Given the description of an element on the screen output the (x, y) to click on. 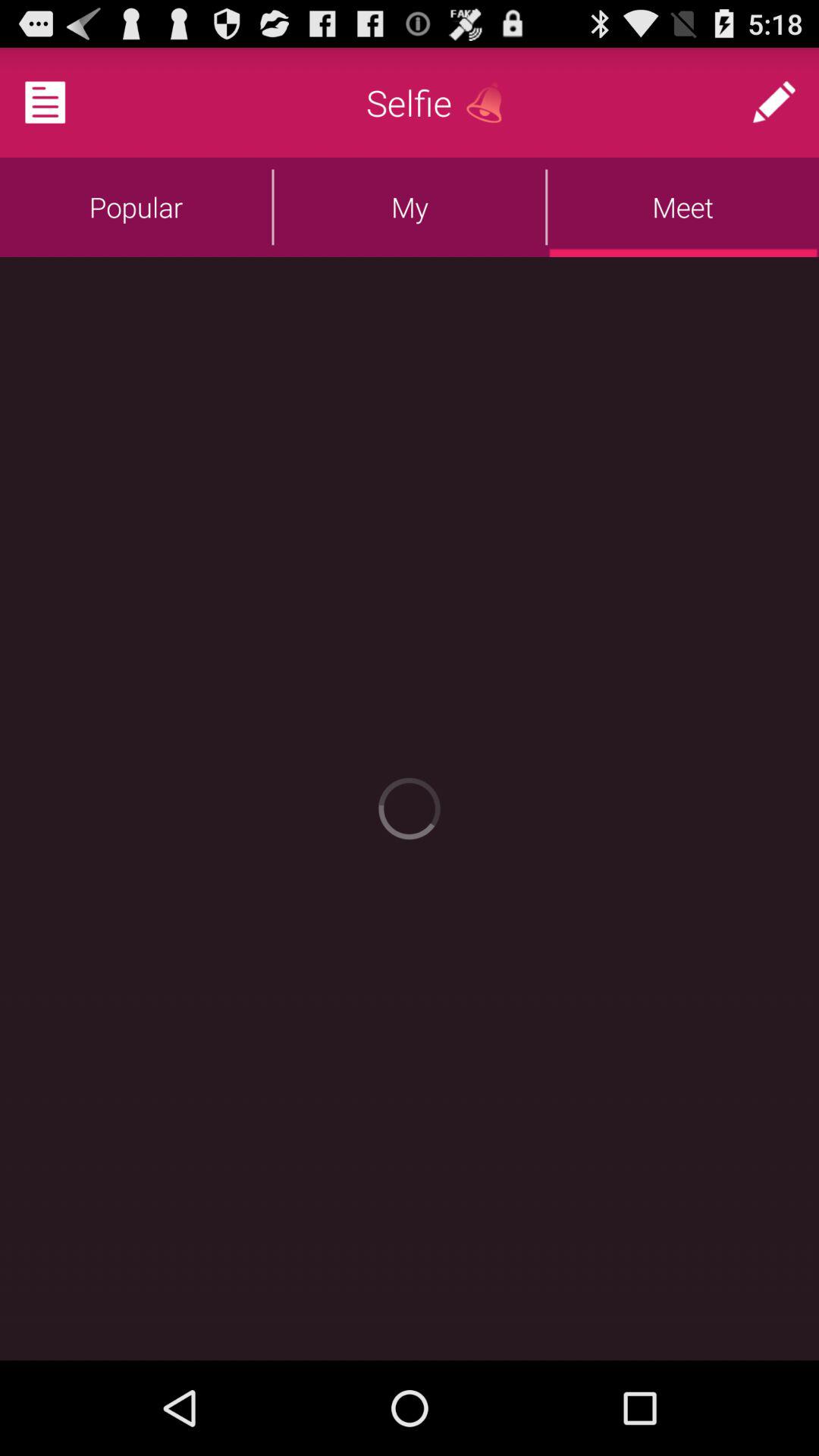
turn on the icon above the my app (489, 102)
